Given the description of an element on the screen output the (x, y) to click on. 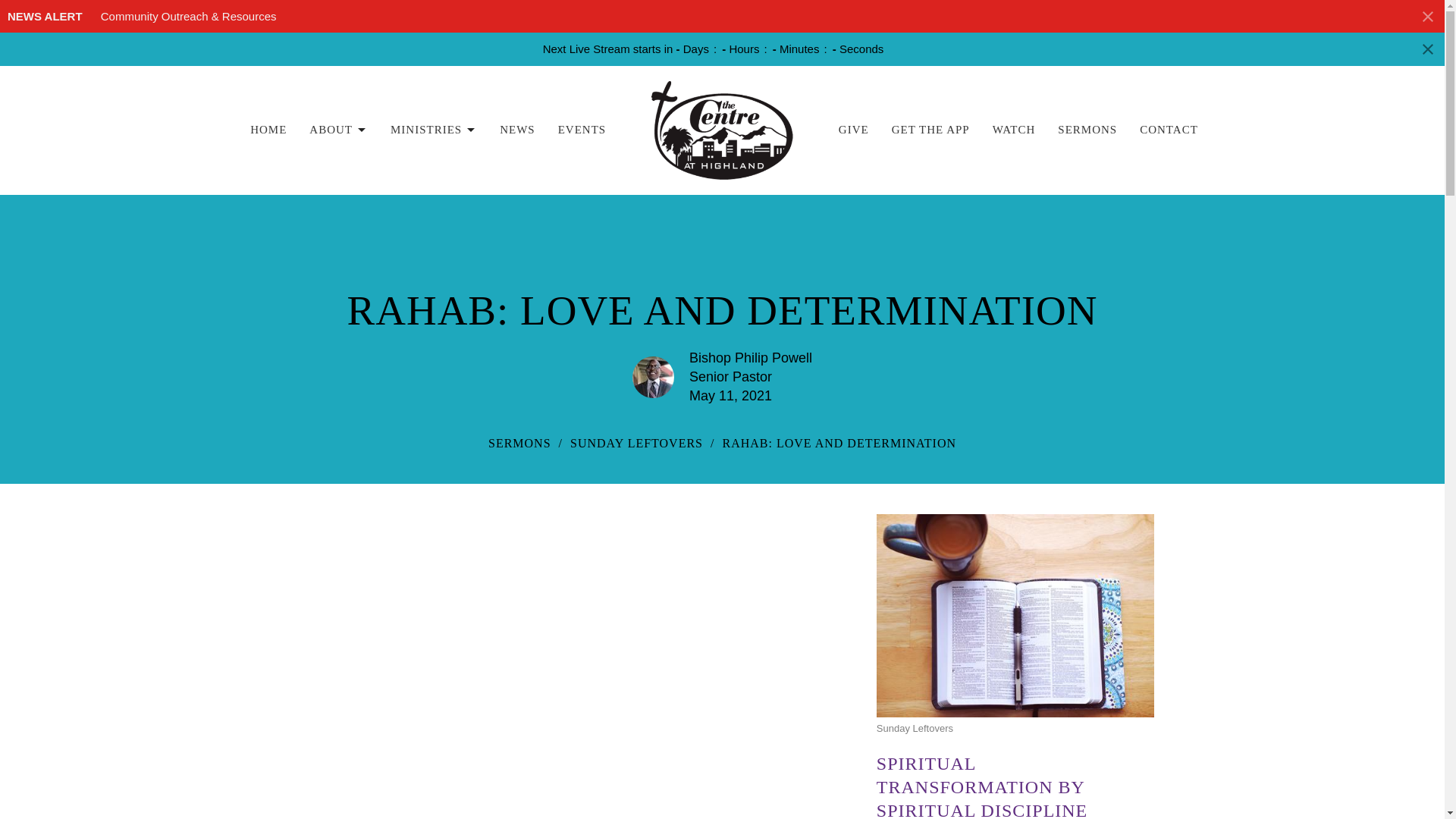
EVENTS (582, 129)
CONTACT (1169, 129)
Sunday Leftovers (1015, 673)
SERMONS (1087, 129)
WATCH (1013, 129)
ABOUT (338, 129)
HOME (268, 129)
NEWS (517, 129)
Spiritual Transformation by Spiritual Discipline (1015, 785)
SUNDAY LEFTOVERS (636, 442)
